Given the description of an element on the screen output the (x, y) to click on. 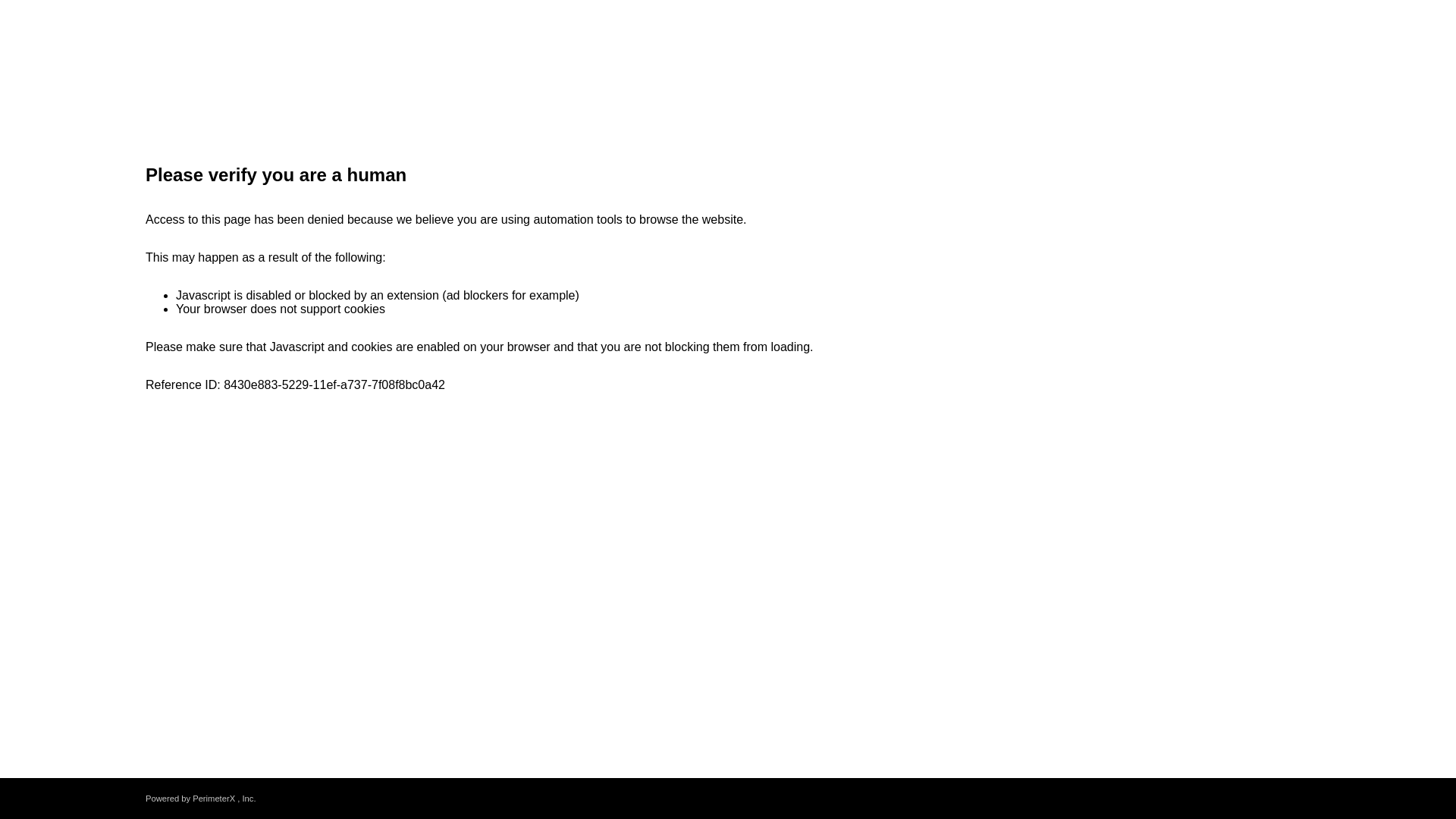
PerimeterX (213, 798)
